Given the description of an element on the screen output the (x, y) to click on. 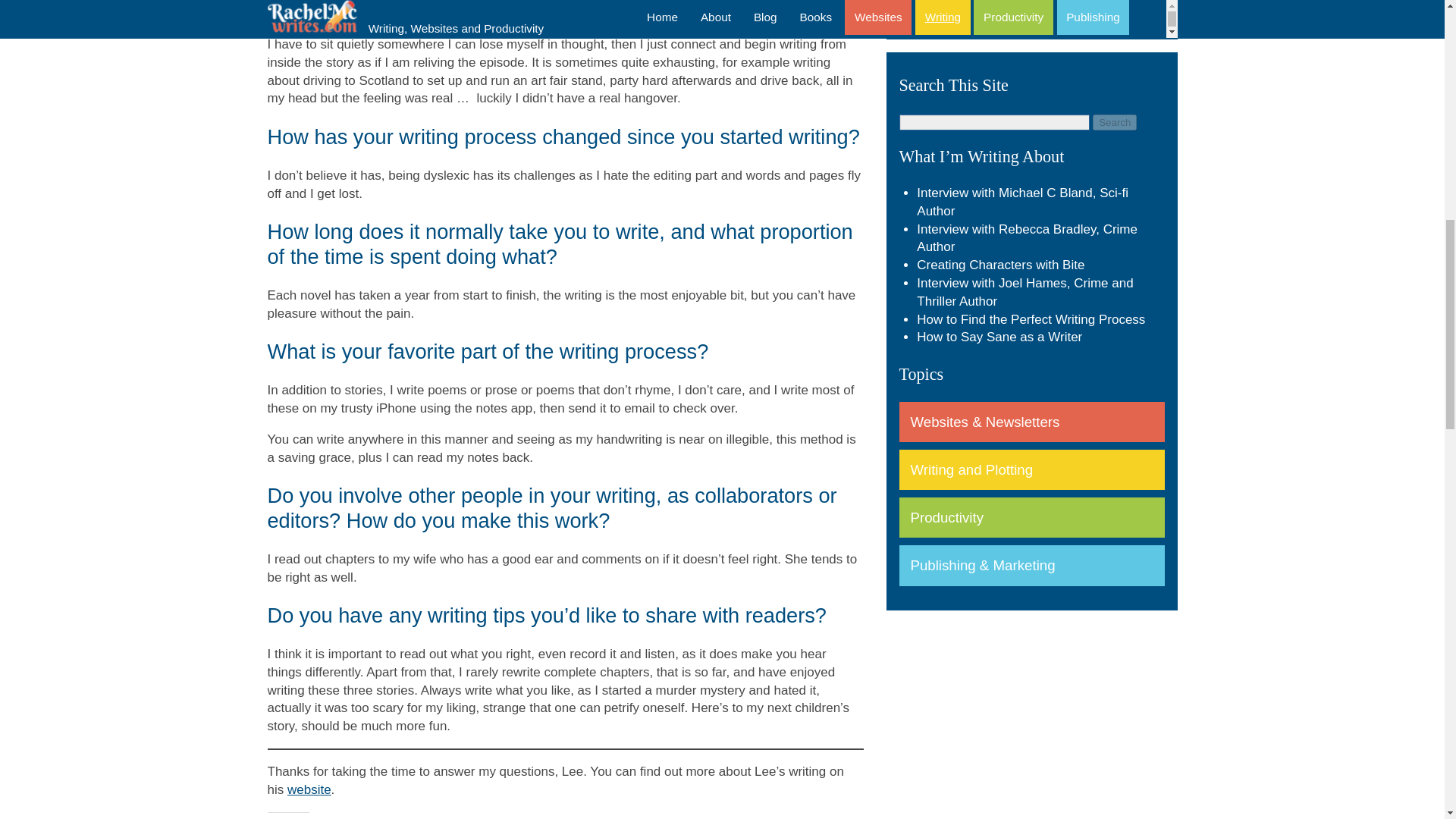
Search (1115, 122)
website (308, 789)
